Given the description of an element on the screen output the (x, y) to click on. 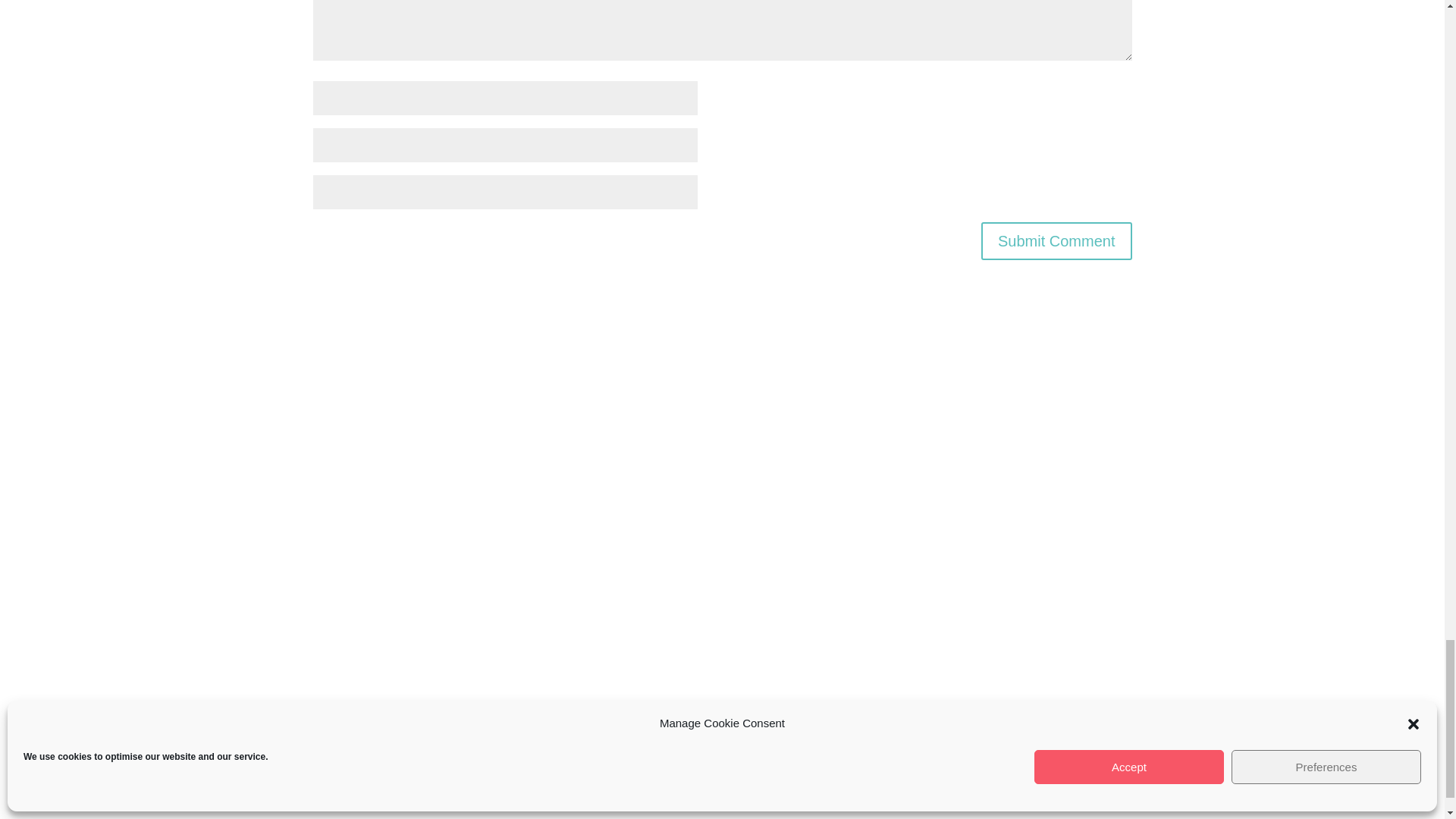
Submit Comment (1056, 240)
